Given the description of an element on the screen output the (x, y) to click on. 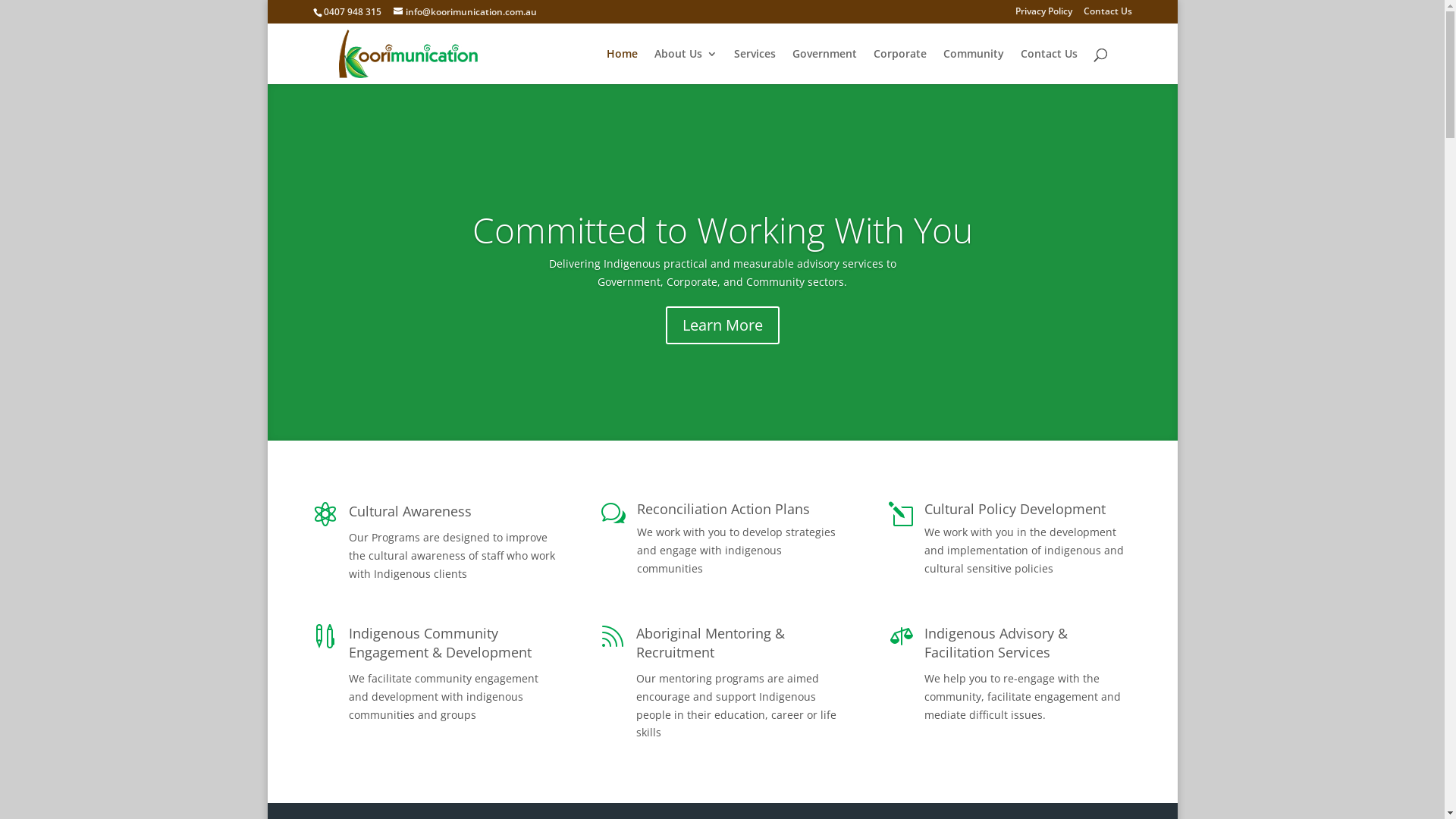
Committed to Working With You Element type: text (721, 229)
About Us Element type: text (684, 66)
Community Element type: text (973, 66)
Contact Us Element type: text (1048, 66)
Learn More Element type: text (722, 325)
Home Element type: text (621, 66)
Corporate Element type: text (899, 66)
Government Element type: text (823, 66)
Privacy Policy Element type: text (1042, 14)
Contact Us Element type: text (1106, 14)
Services Element type: text (754, 66)
info@koorimunication.com.au Element type: text (464, 11)
